Given the description of an element on the screen output the (x, y) to click on. 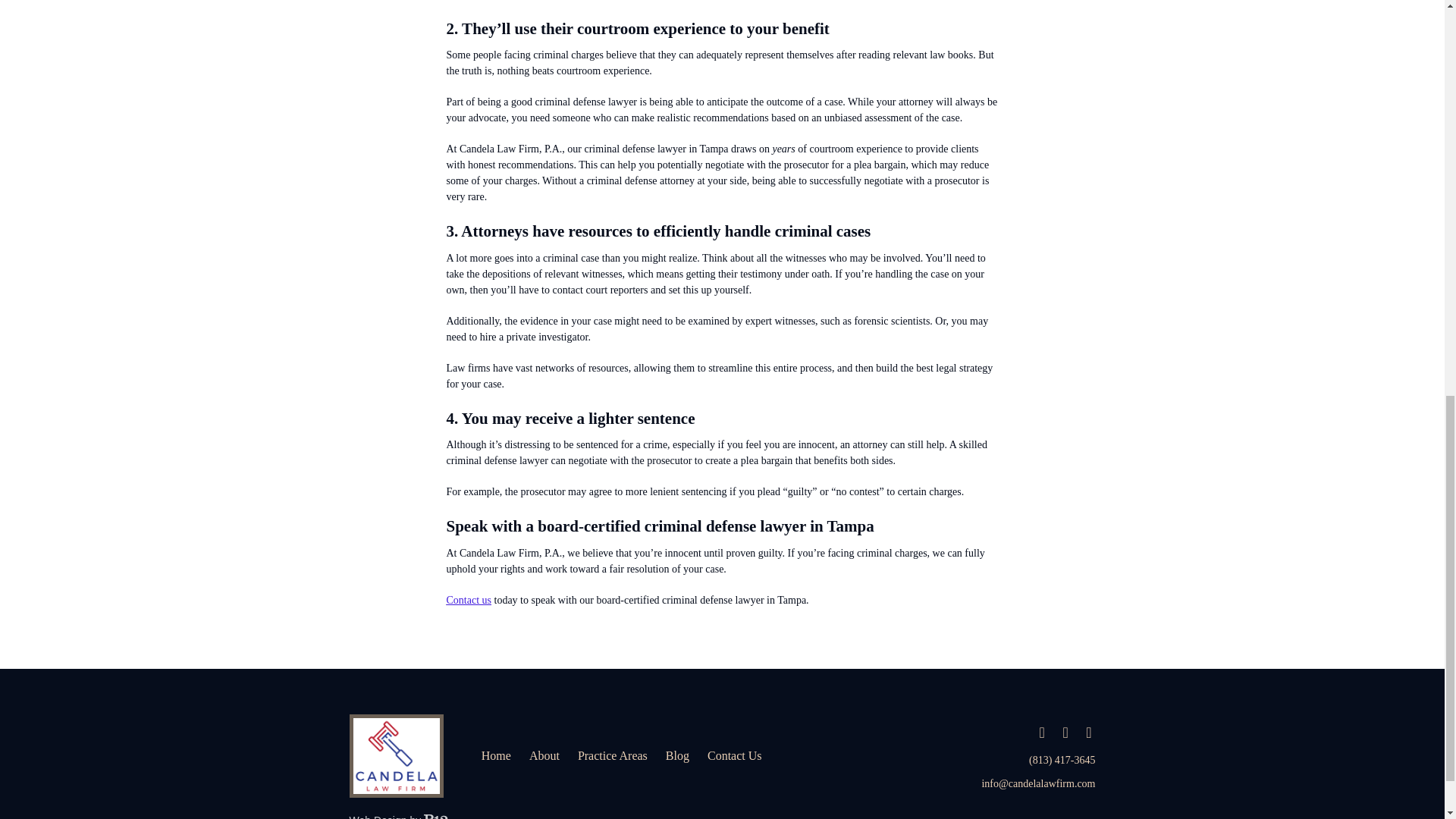
Contact us (468, 600)
Practice Areas (612, 756)
Contact Us (734, 756)
Blog (676, 756)
Web Design by (397, 816)
About (544, 756)
Home (496, 756)
